Given the description of an element on the screen output the (x, y) to click on. 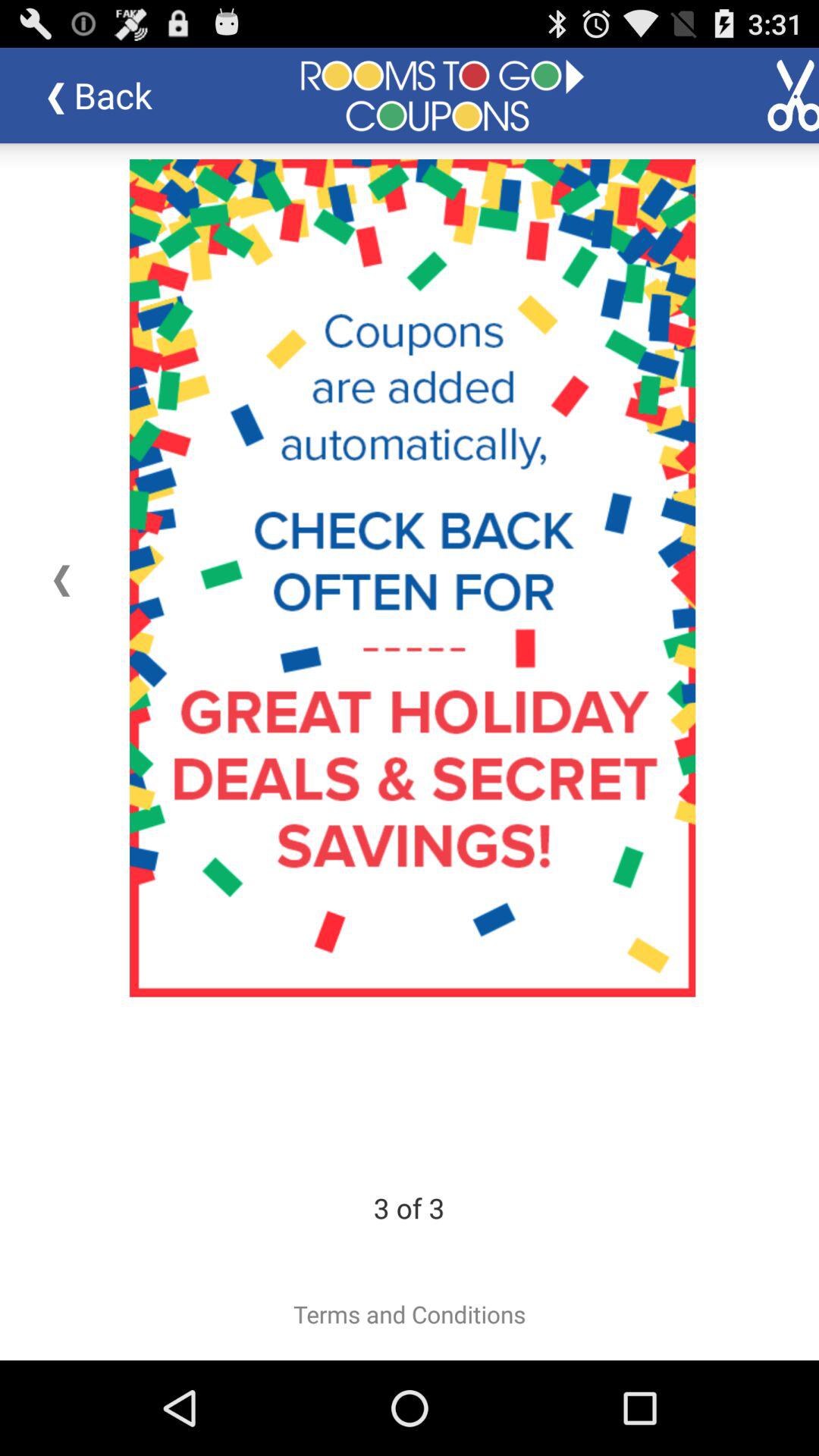
select terms and conditions icon (409, 1313)
